Given the description of an element on the screen output the (x, y) to click on. 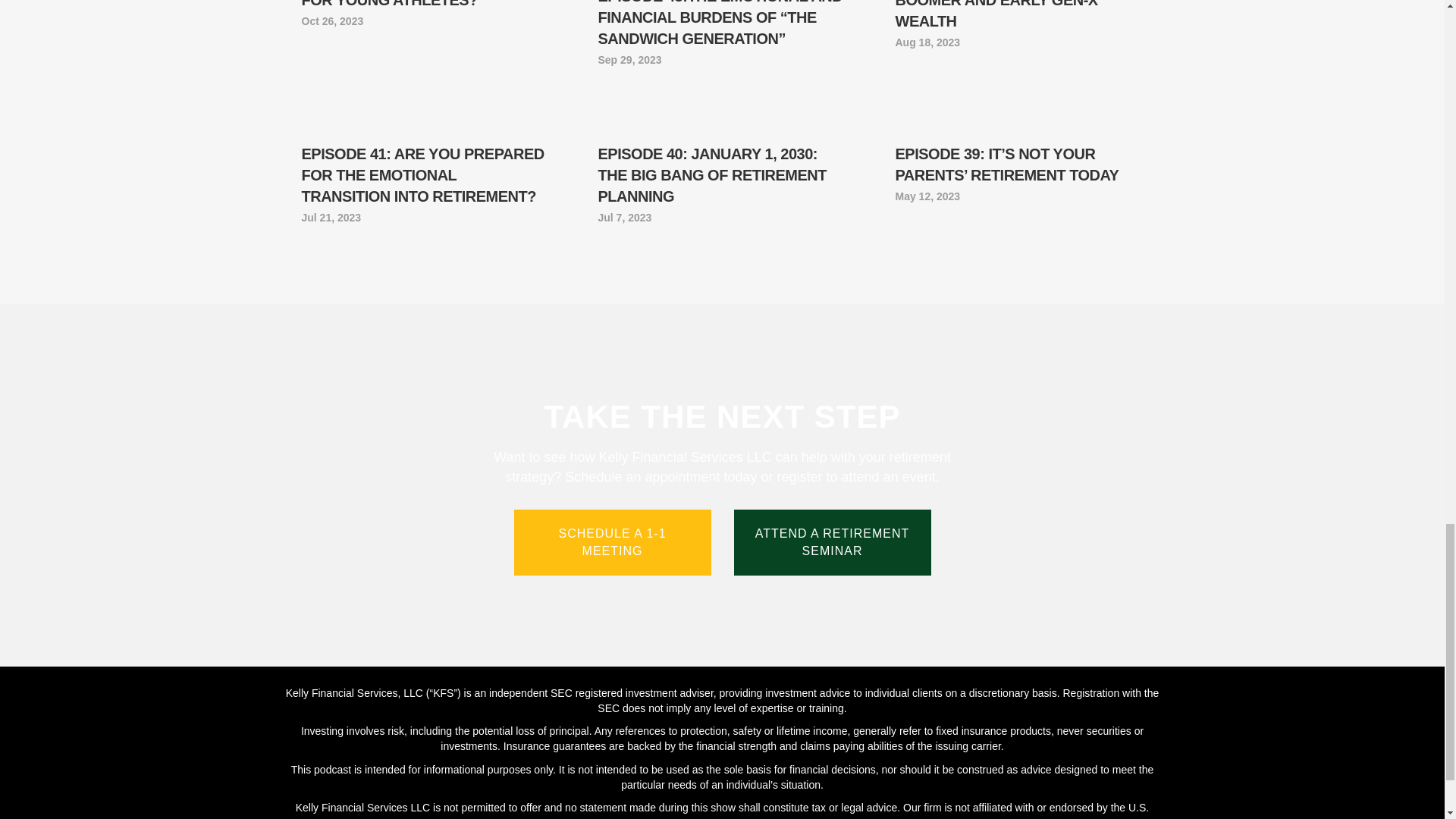
SCHEDULE A 1-1 MEETING (612, 541)
ATTEND A RETIREMENT SEMINAR (832, 541)
